Given the description of an element on the screen output the (x, y) to click on. 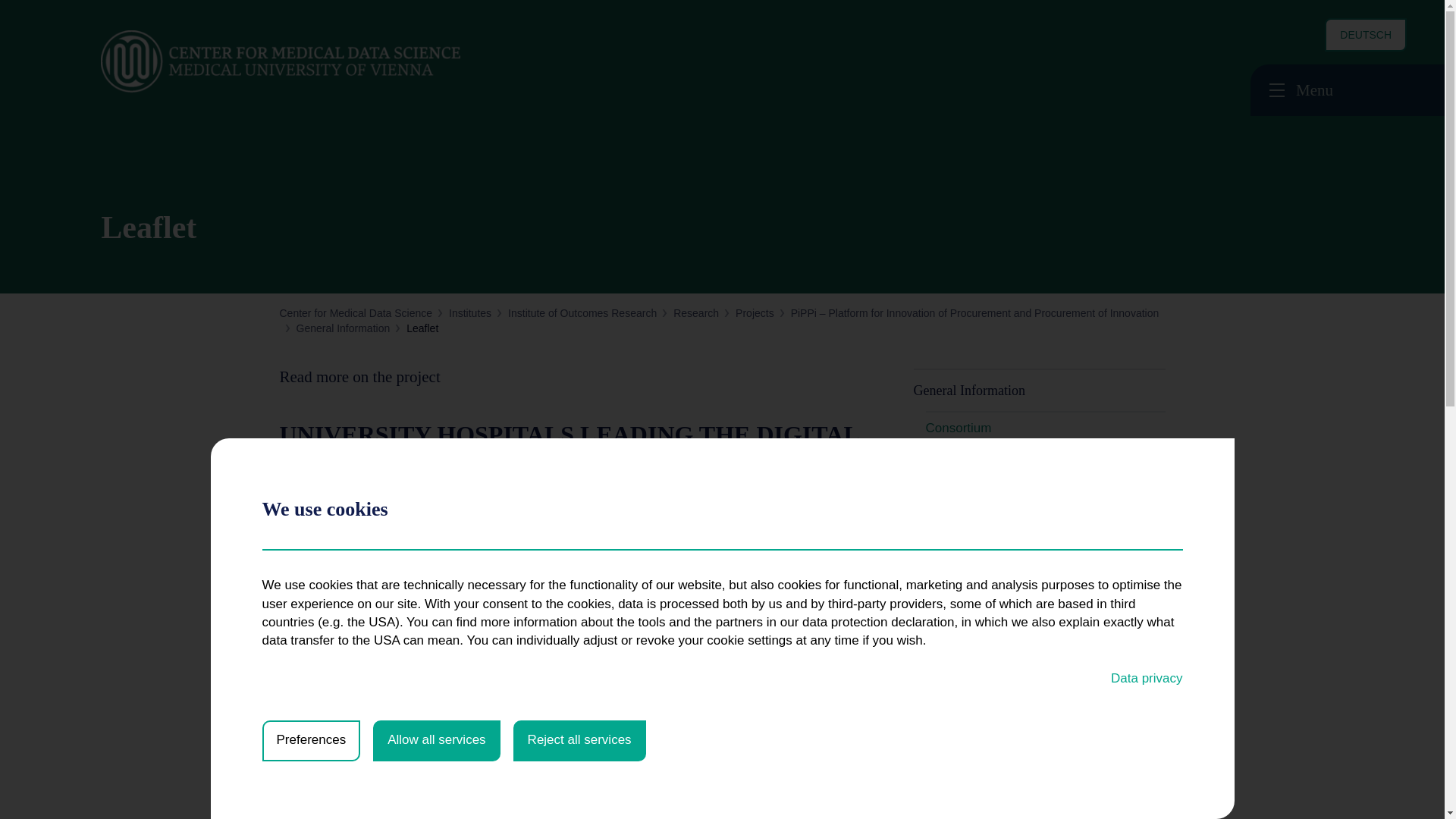
Institute of Outcomes Research (582, 313)
Click to open the leaflet (380, 778)
Center for Medical Data Science (355, 313)
Research (695, 313)
Projects (754, 313)
General Information (342, 328)
Work Packages (969, 461)
Institute of Outcomes Research (582, 313)
DEUTSCH (1365, 34)
Consortium (957, 427)
